Given the description of an element on the screen output the (x, y) to click on. 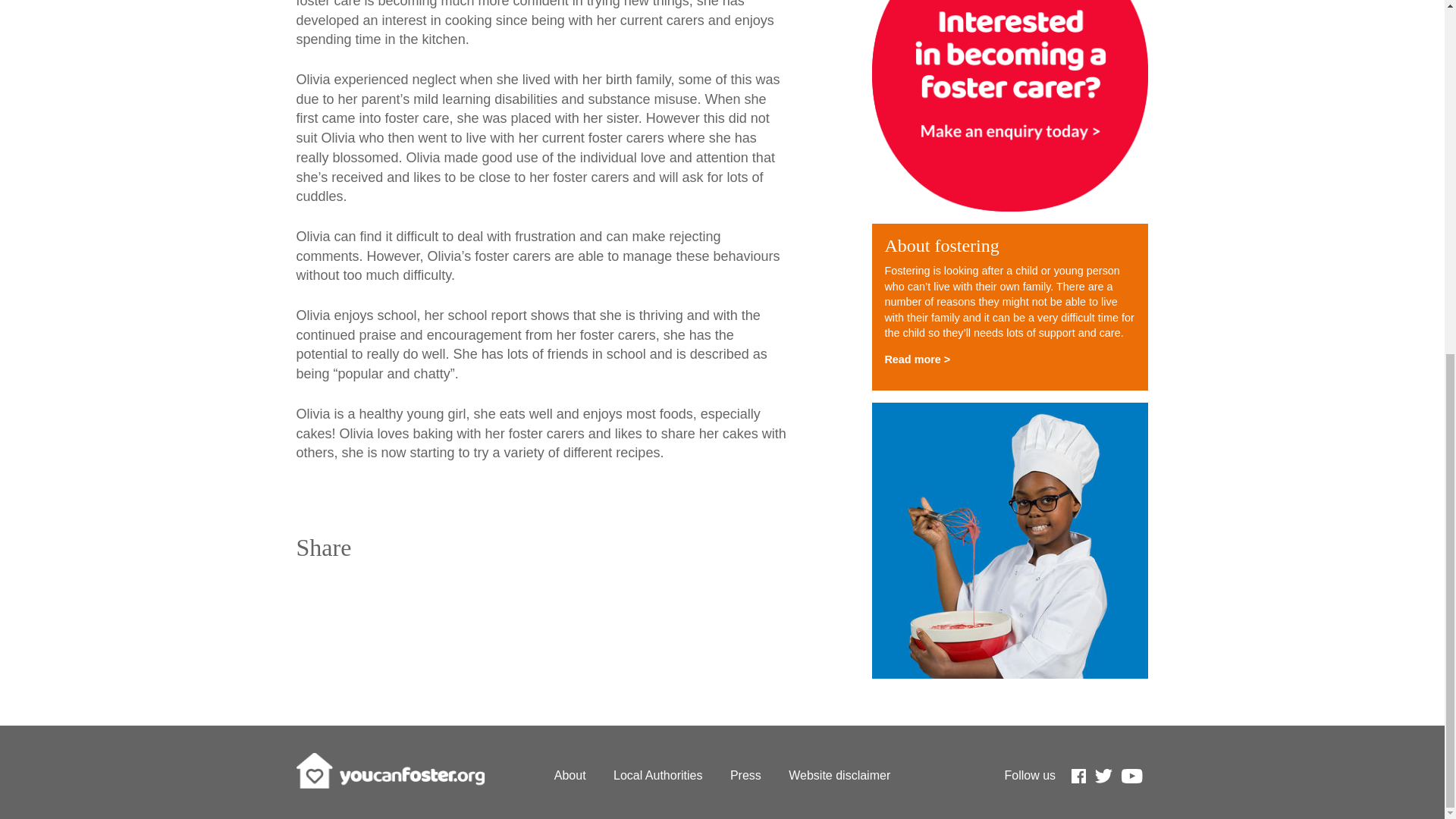
About (570, 775)
Local Authorities (656, 775)
About fostering (940, 245)
Website disclaimer (839, 775)
Press (745, 775)
